Given the description of an element on the screen output the (x, y) to click on. 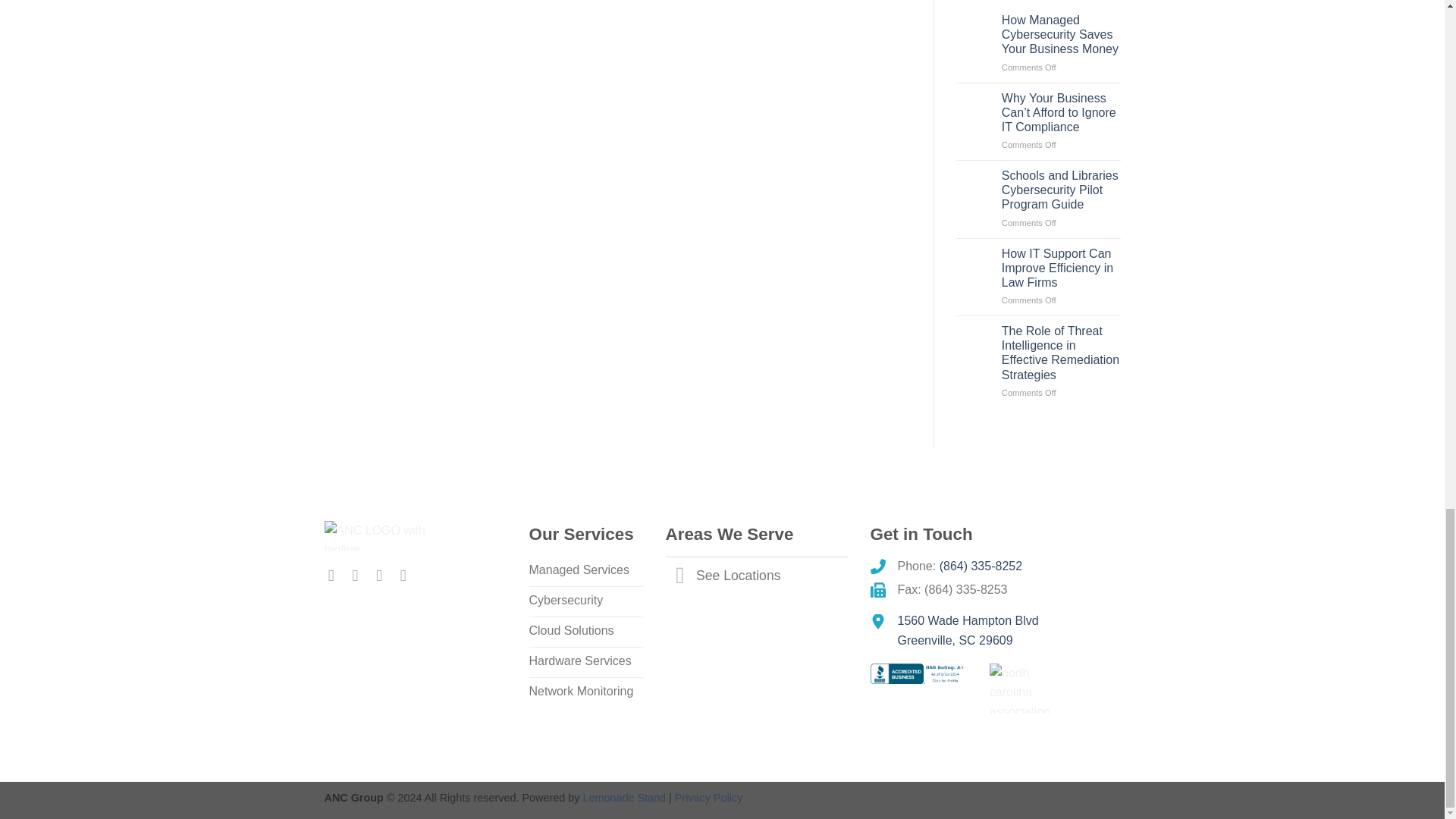
Follow on Facebook (336, 574)
Follow on LinkedIn (383, 574)
Follow on Twitter (360, 574)
How Managed Cybersecurity Saves Your Business Money (1061, 34)
Schools and Libraries Cybersecurity Pilot Program Guide (1061, 190)
How IT Support Can Improve Efficiency in Law Firms (1061, 268)
